Given the description of an element on the screen output the (x, y) to click on. 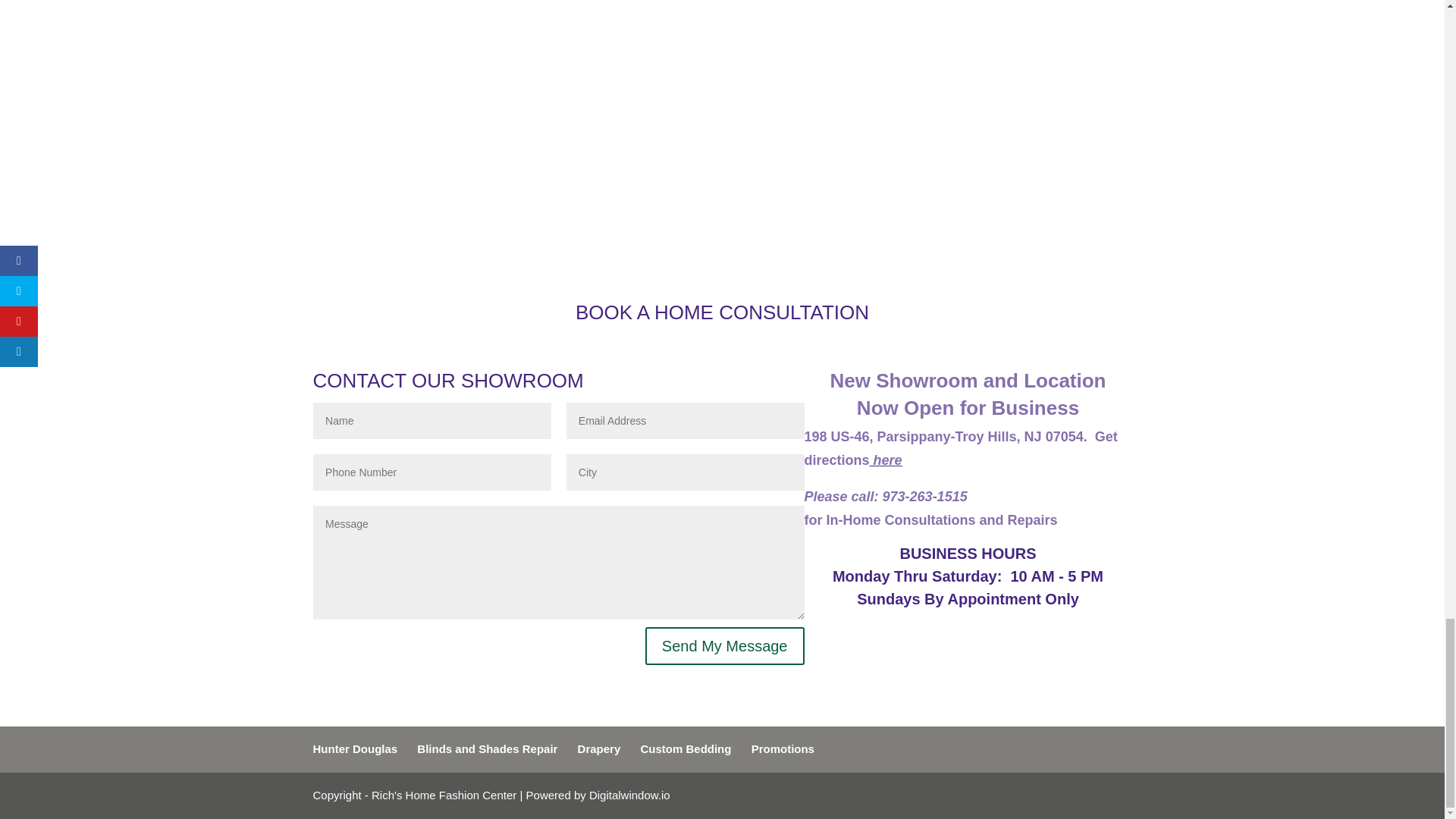
Drapery (599, 748)
Send My Message (725, 646)
Only letters allowed. (685, 472)
Custom Bedding (685, 748)
Blinds and Shades Repair (486, 748)
here (885, 459)
Only numbers allowed. (432, 472)
Hunter Douglas (355, 748)
Promotions (782, 748)
